Given the description of an element on the screen output the (x, y) to click on. 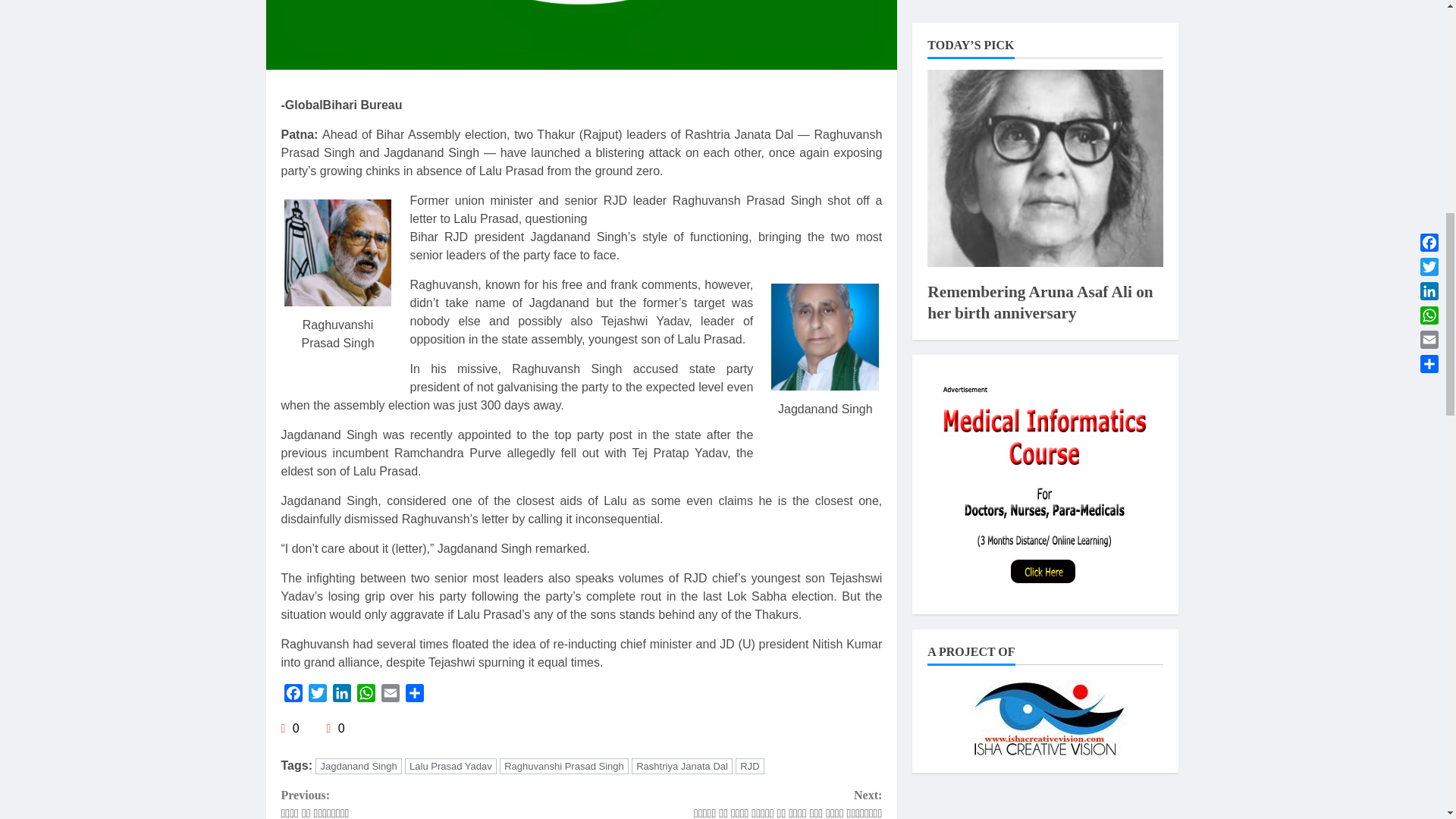
WhatsApp (365, 695)
Email (389, 695)
Twitter (316, 695)
Facebook (292, 695)
LinkedIn (341, 695)
